Given the description of an element on the screen output the (x, y) to click on. 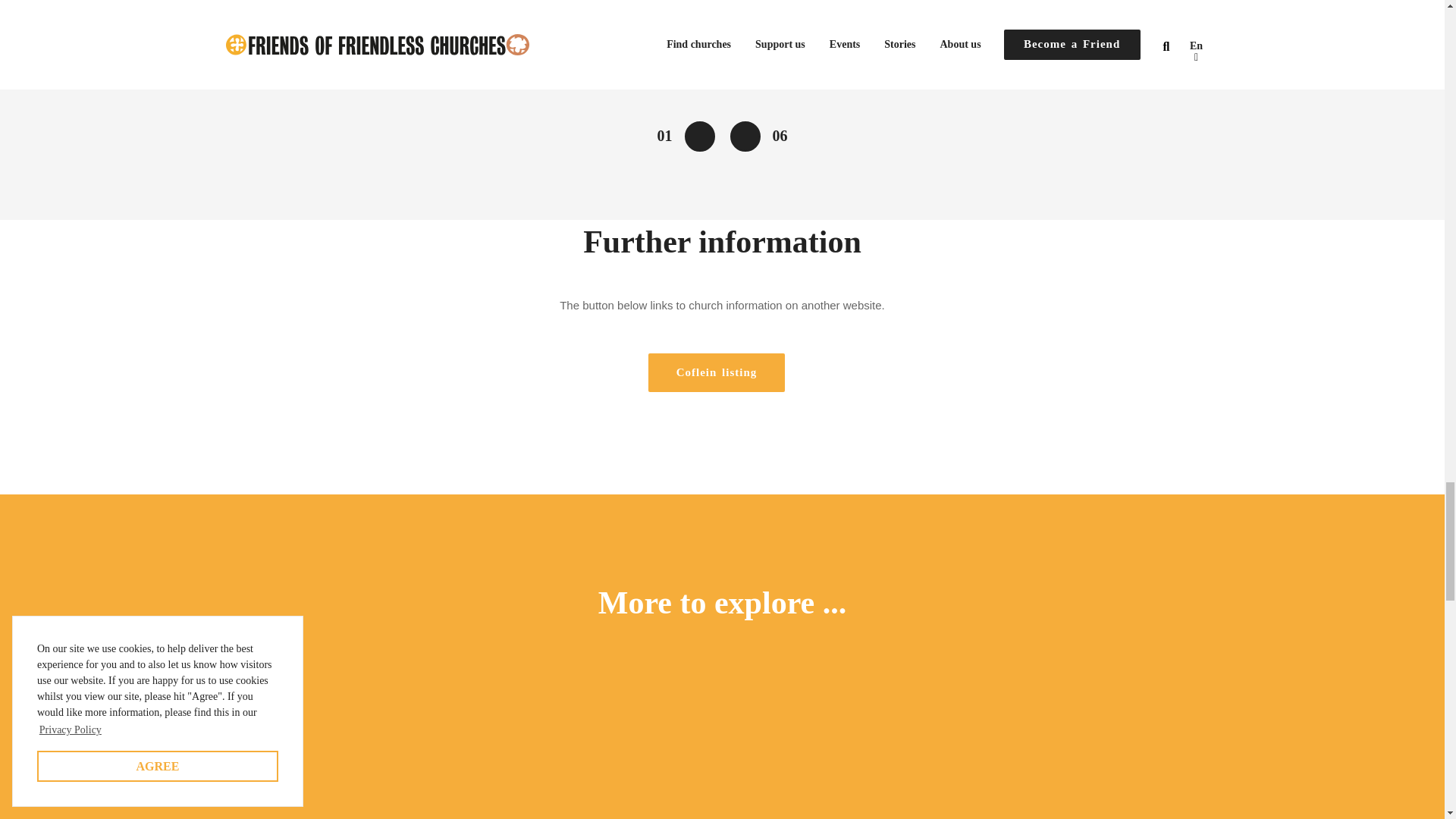
Coflein listing (715, 372)
